Given the description of an element on the screen output the (x, y) to click on. 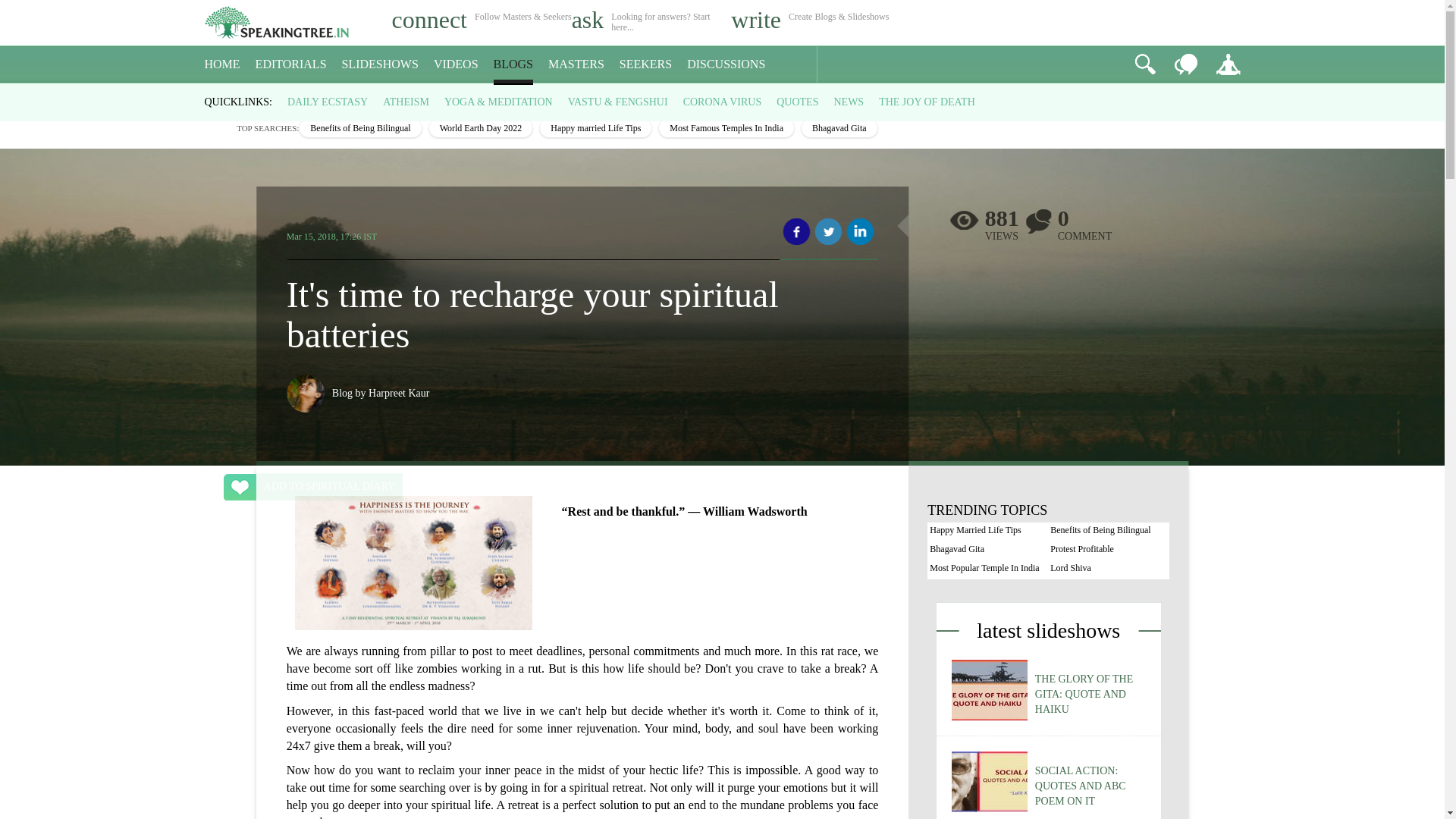
EDITORIALS (291, 64)
BLOGS (512, 64)
SEEKERS (645, 64)
THE JOY OF DEATH (927, 101)
MASTERS (576, 64)
Share on Twitter (828, 231)
HOME (222, 64)
ATHEISM (405, 101)
QUOTES (797, 101)
CORONA VIRUS (721, 101)
